Given the description of an element on the screen output the (x, y) to click on. 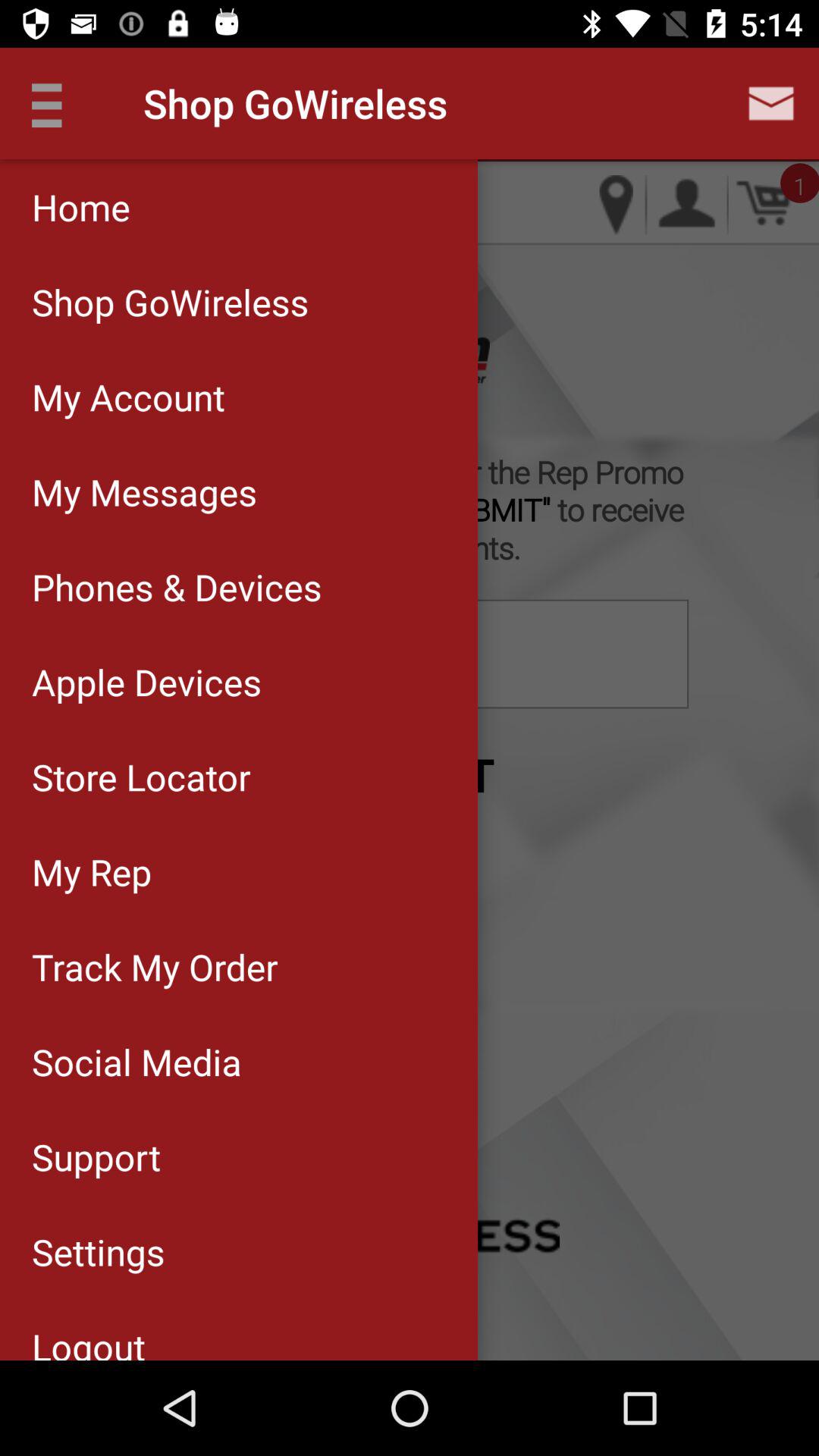
turn on the item above my rep (238, 776)
